Given the description of an element on the screen output the (x, y) to click on. 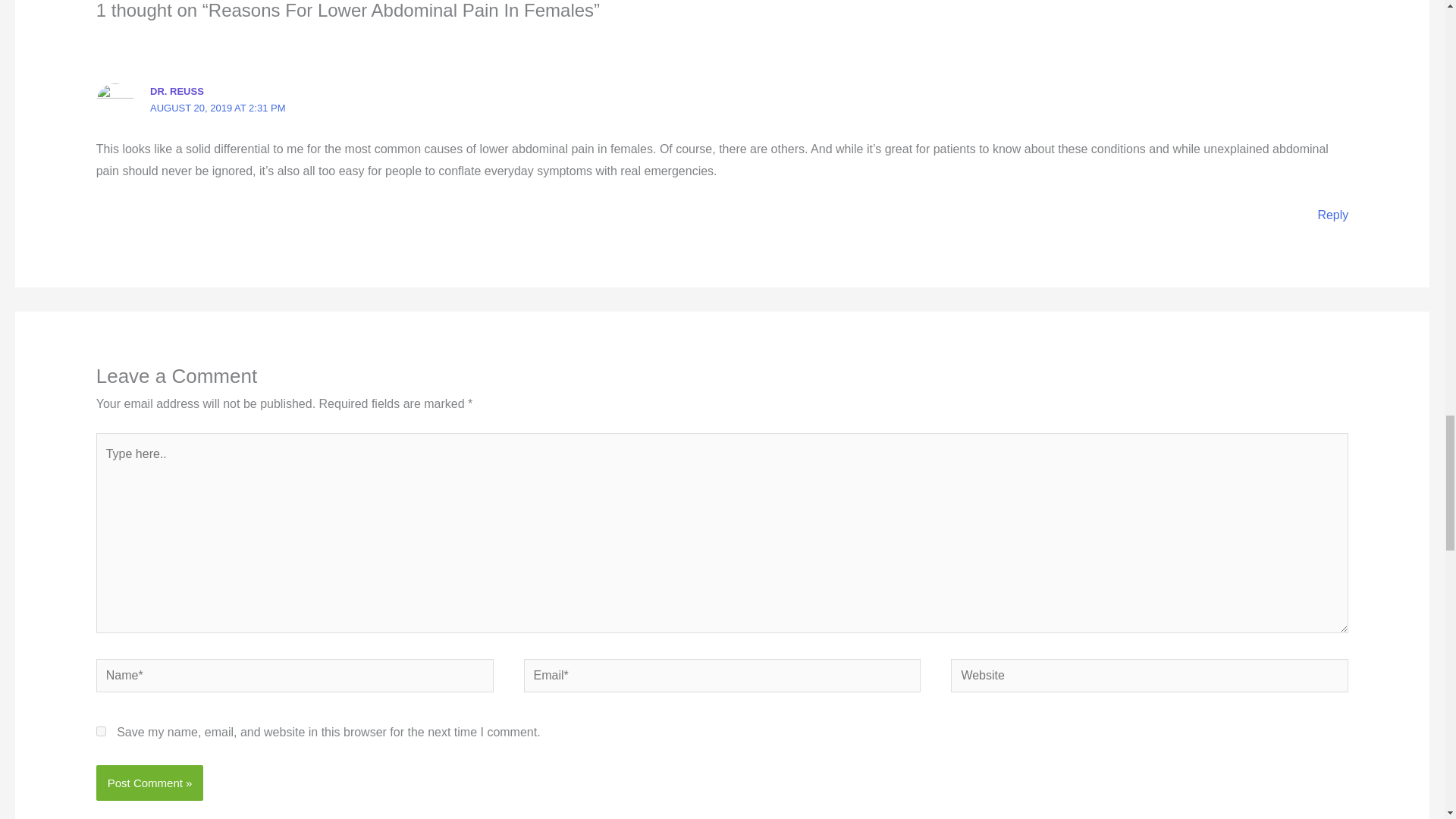
Reply (1332, 214)
yes (101, 731)
AUGUST 20, 2019 AT 2:31 PM (217, 107)
